Given the description of an element on the screen output the (x, y) to click on. 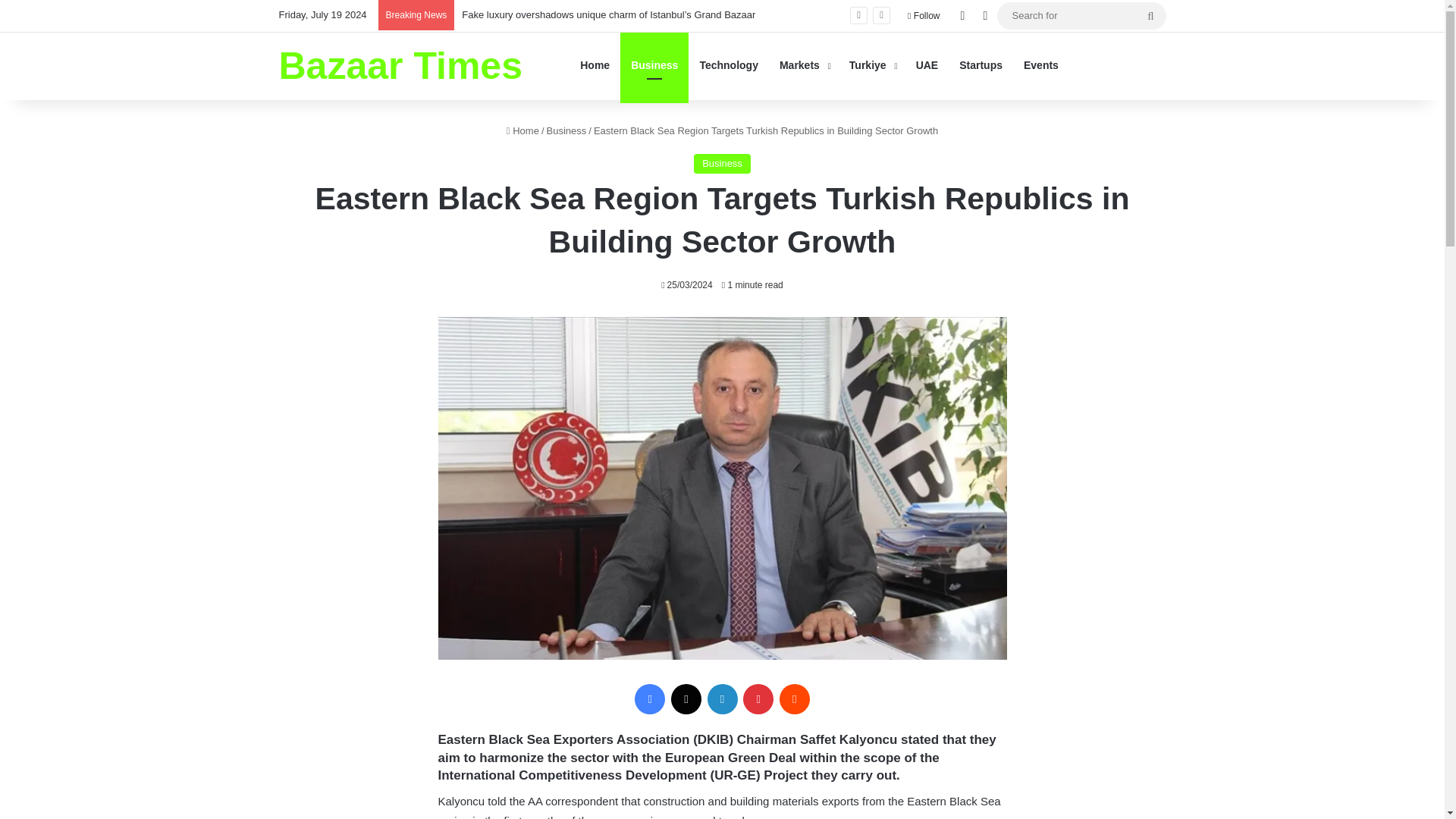
X (686, 698)
Reddit (793, 698)
Business (722, 163)
Bazaar Times (400, 65)
Technology (728, 65)
Business (566, 130)
Markets (803, 65)
Home (522, 130)
Bazaar Times (400, 65)
LinkedIn (721, 698)
Pinterest (757, 698)
LinkedIn (721, 698)
Facebook (649, 698)
Turkiye (871, 65)
Search for (1150, 15)
